Given the description of an element on the screen output the (x, y) to click on. 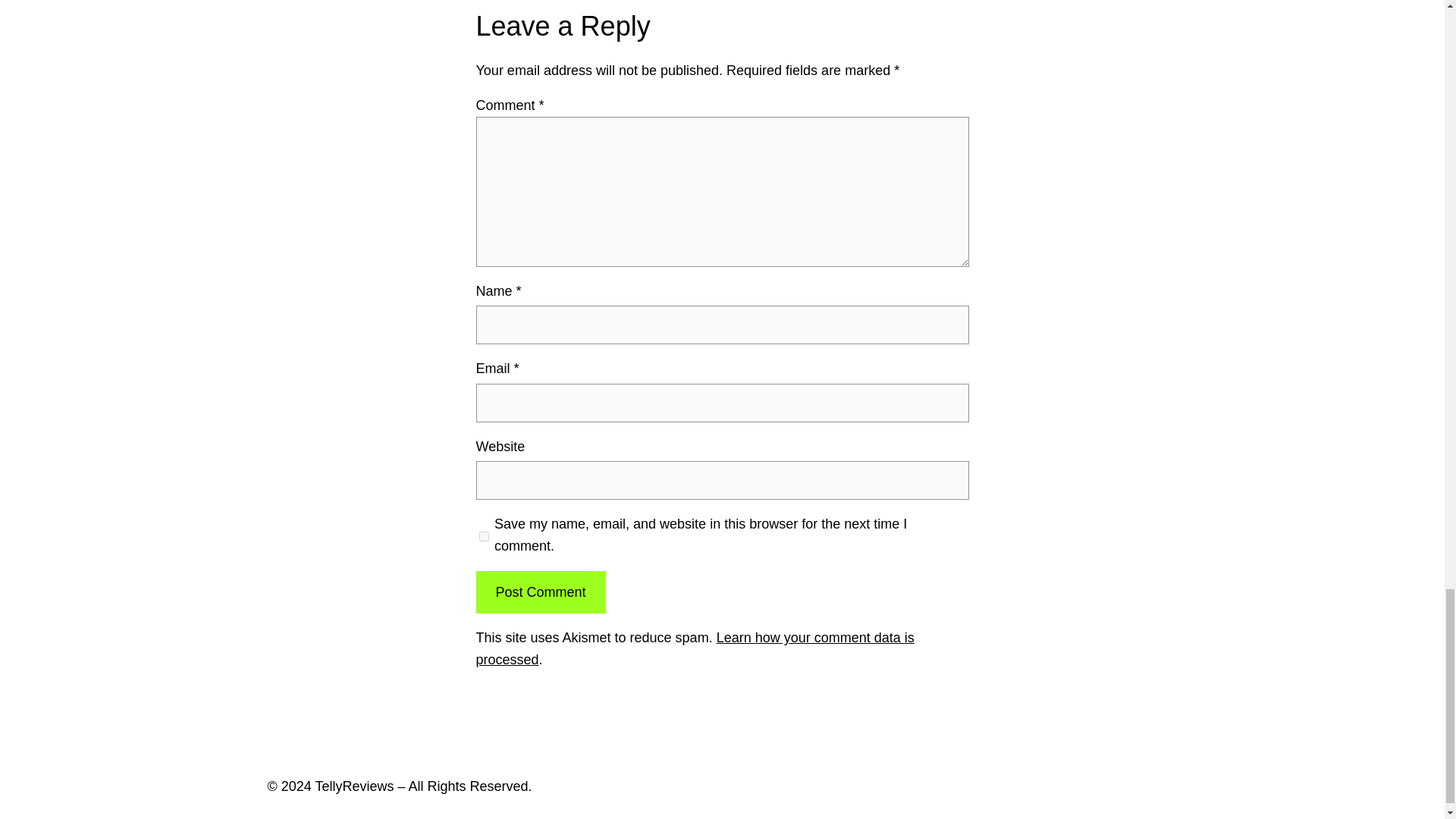
Learn how your comment data is processed (695, 648)
Post Comment (540, 592)
Post Comment (540, 592)
